Given the description of an element on the screen output the (x, y) to click on. 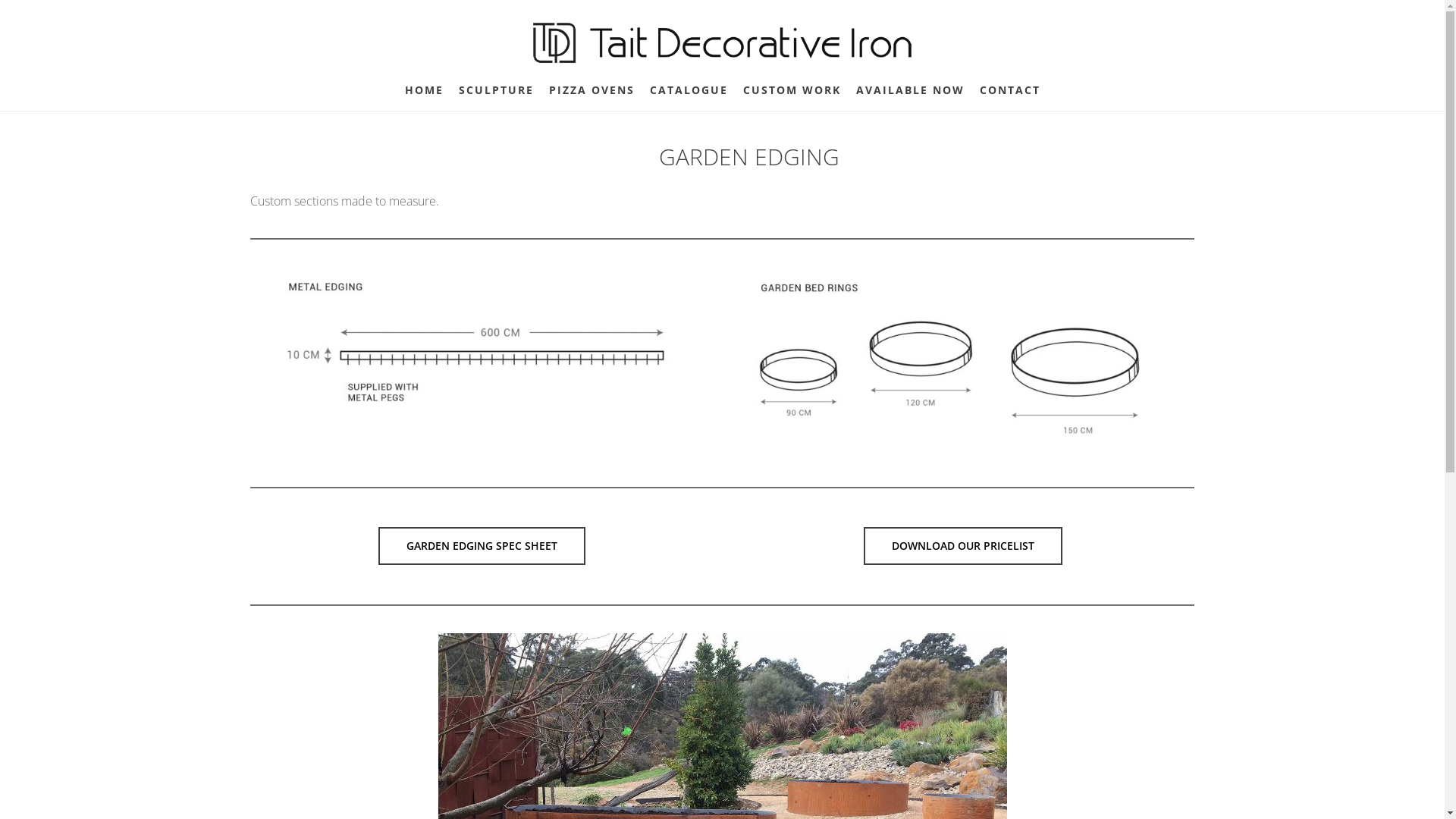
GARDEN EDGING SPEC SHEET Element type: text (481, 545)
DOWNLOAD OUR PRICELIST Element type: text (962, 545)
AVAILABLE NOW Element type: text (909, 89)
CATALOGUE Element type: text (687, 89)
CONTACT Element type: text (1010, 89)
PIZZA OVENS Element type: text (591, 89)
SCULPTURE Element type: text (495, 89)
HOME Element type: text (424, 89)
CUSTOM WORK Element type: text (791, 89)
